Given the description of an element on the screen output the (x, y) to click on. 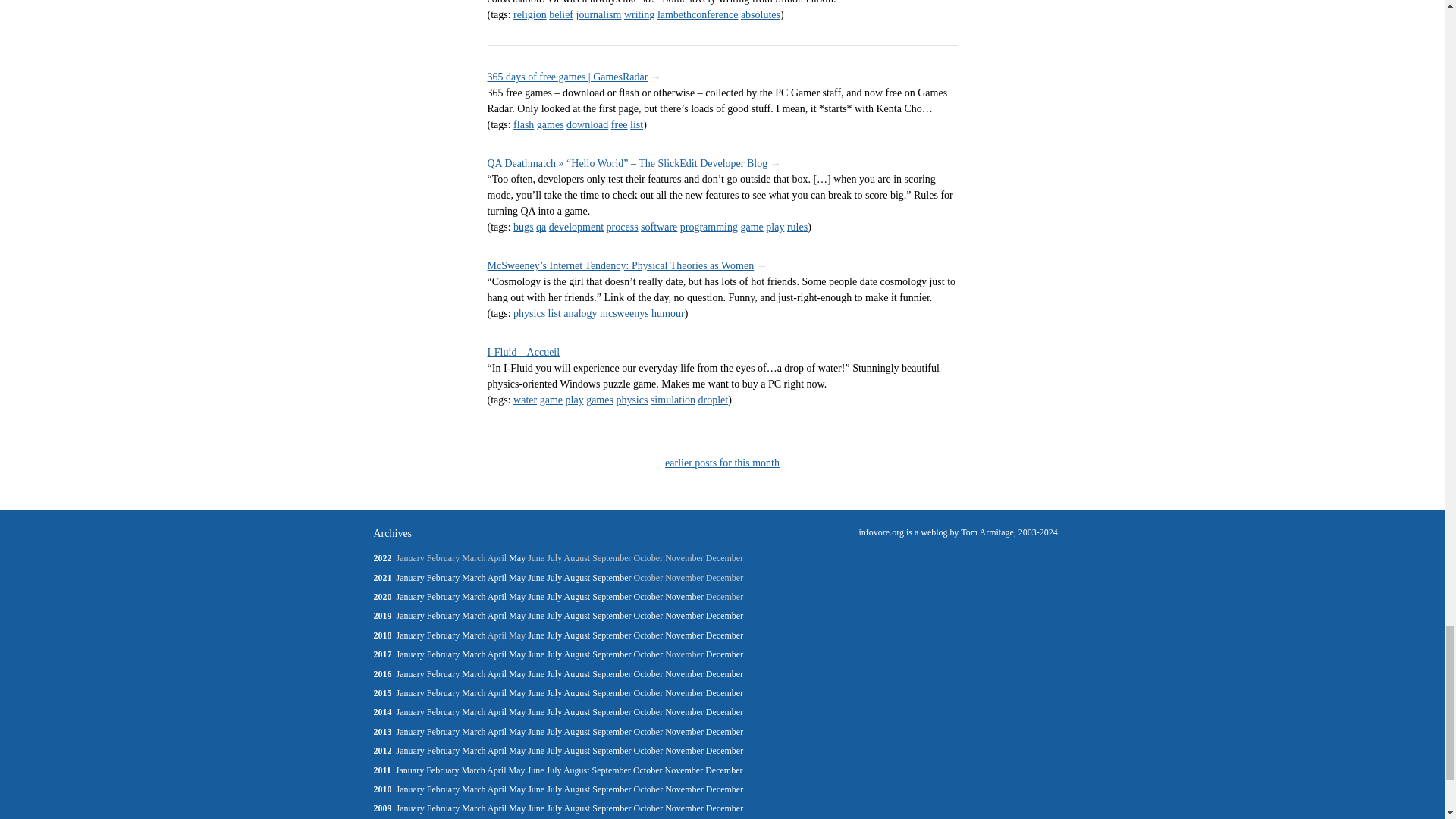
August 2021 (577, 577)
July 2020 (554, 596)
January 2021 (409, 577)
February 2020 (443, 596)
May 2022 (516, 557)
January 2020 (409, 596)
February 2021 (443, 577)
May 2020 (516, 596)
September 2021 (611, 577)
June 2020 (535, 596)
